Given the description of an element on the screen output the (x, y) to click on. 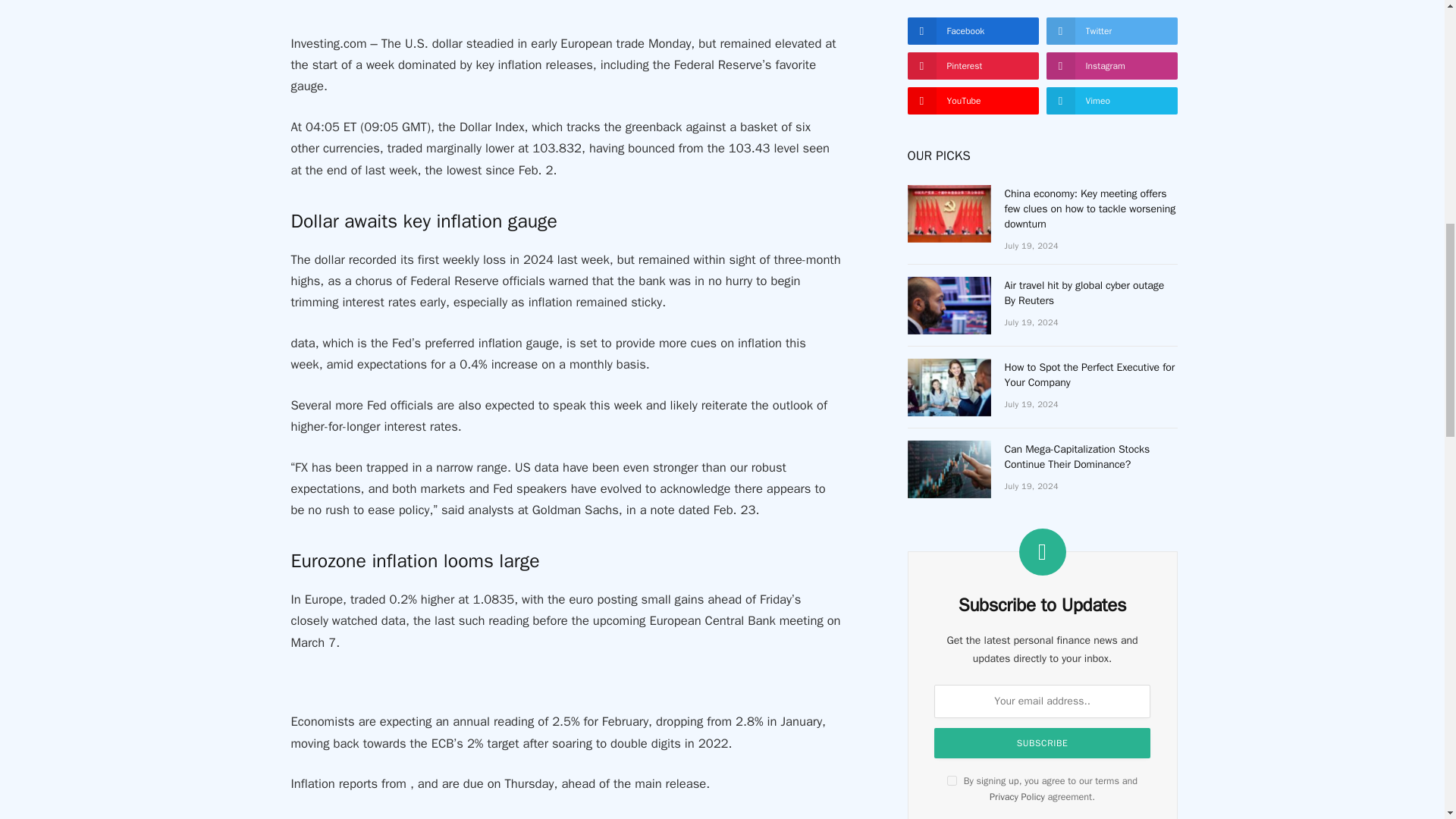
Subscribe (1042, 743)
on (951, 780)
